Given the description of an element on the screen output the (x, y) to click on. 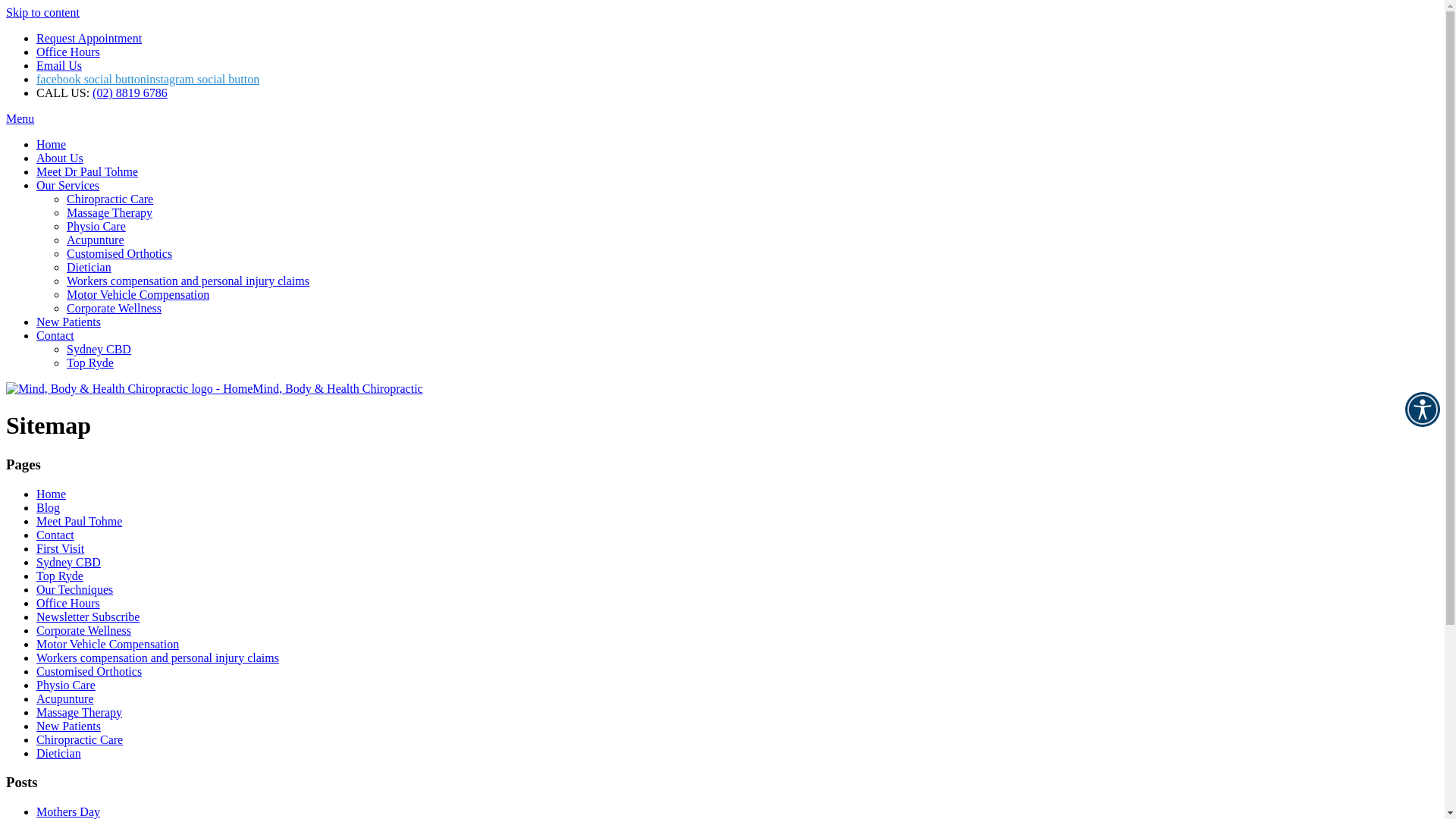
Motor Vehicle Compensation Element type: text (107, 643)
Corporate Wellness Element type: text (113, 307)
Dietician Element type: text (88, 266)
Dietician Element type: text (58, 752)
New Patients Element type: text (68, 725)
Chiropractic Care Element type: text (79, 739)
Home Element type: text (50, 493)
Our Techniques Element type: text (74, 589)
Massage Therapy Element type: text (109, 212)
About Us Element type: text (59, 157)
Office Hours Element type: text (68, 602)
Top Ryde Element type: text (59, 575)
Newsletter Subscribe Element type: text (87, 616)
Massage Therapy Element type: text (79, 712)
Our Services Element type: text (67, 184)
Physio Care Element type: text (95, 225)
Blog Element type: text (47, 507)
Motor Vehicle Compensation Element type: text (137, 294)
Office Hours Element type: text (68, 51)
Chiropractic Care Element type: text (109, 198)
Email Us Element type: text (58, 65)
Contact Element type: text (55, 534)
Mind, Body & Health Chiropractic Element type: text (214, 388)
Meet Dr Paul Tohme Element type: text (87, 171)
Home Element type: text (50, 144)
Mothers Day Element type: text (68, 811)
First Visit Element type: text (60, 548)
Sydney CBD Element type: text (98, 348)
Top Ryde Element type: text (89, 362)
Customised Orthotics Element type: text (88, 671)
Meet Paul Tohme Element type: text (79, 520)
Physio Care Element type: text (65, 684)
New Patients Element type: text (68, 321)
(02) 8819 6786 Element type: text (129, 92)
Workers compensation and personal injury claims Element type: text (187, 280)
Sydney CBD Element type: text (68, 561)
Corporate Wellness Element type: text (83, 630)
instagram social button Element type: text (202, 78)
Contact Element type: text (55, 335)
Workers compensation and personal injury claims Element type: text (157, 657)
Menu Element type: text (20, 118)
Skip to content Element type: text (42, 12)
Request Appointment Element type: text (88, 37)
Customised Orthotics Element type: text (119, 253)
Acupunture Element type: text (95, 239)
facebook social button Element type: text (91, 78)
Acupunture Element type: text (65, 698)
